Given the description of an element on the screen output the (x, y) to click on. 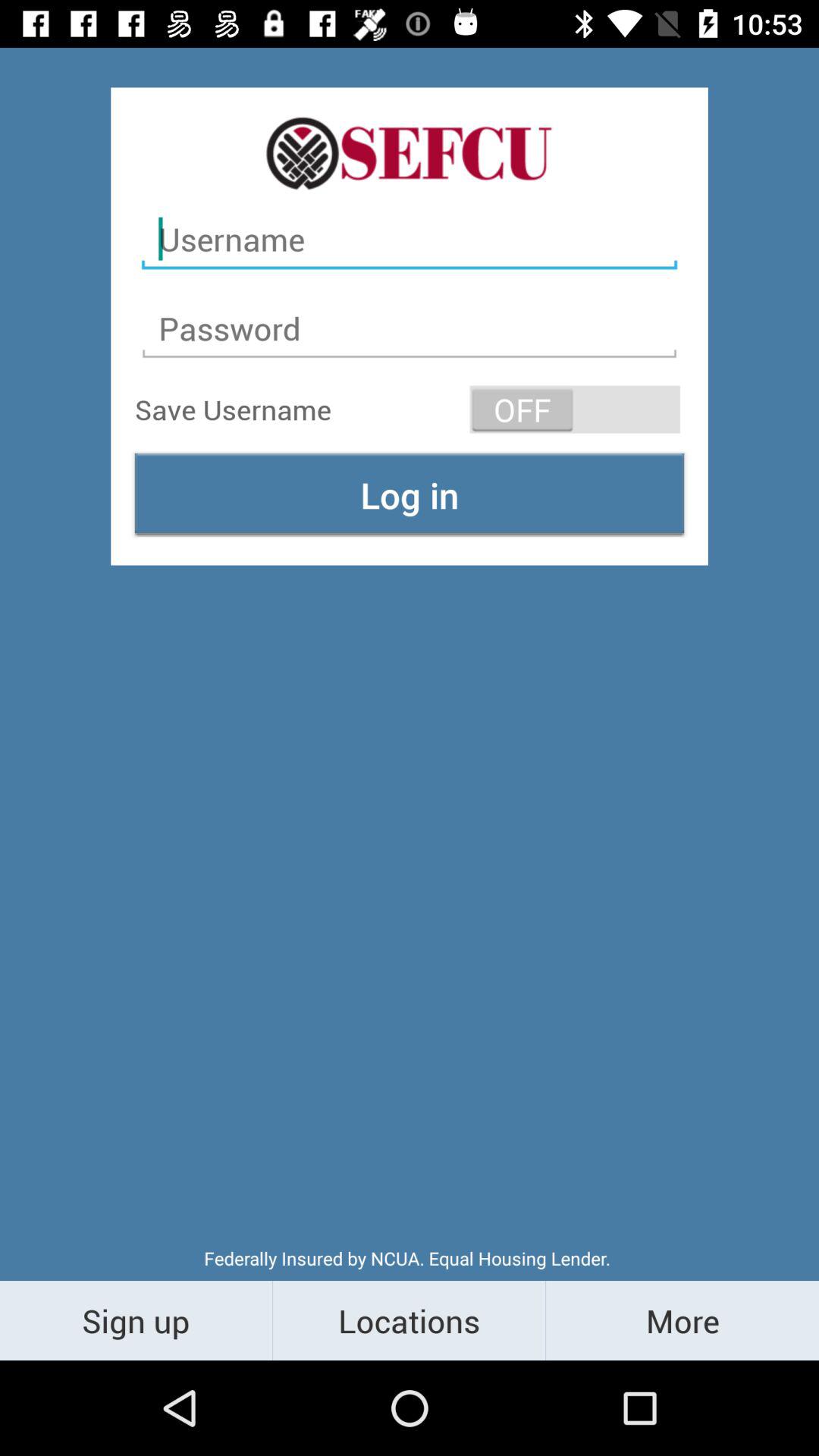
press icon above the federally insured by item (409, 494)
